Given the description of an element on the screen output the (x, y) to click on. 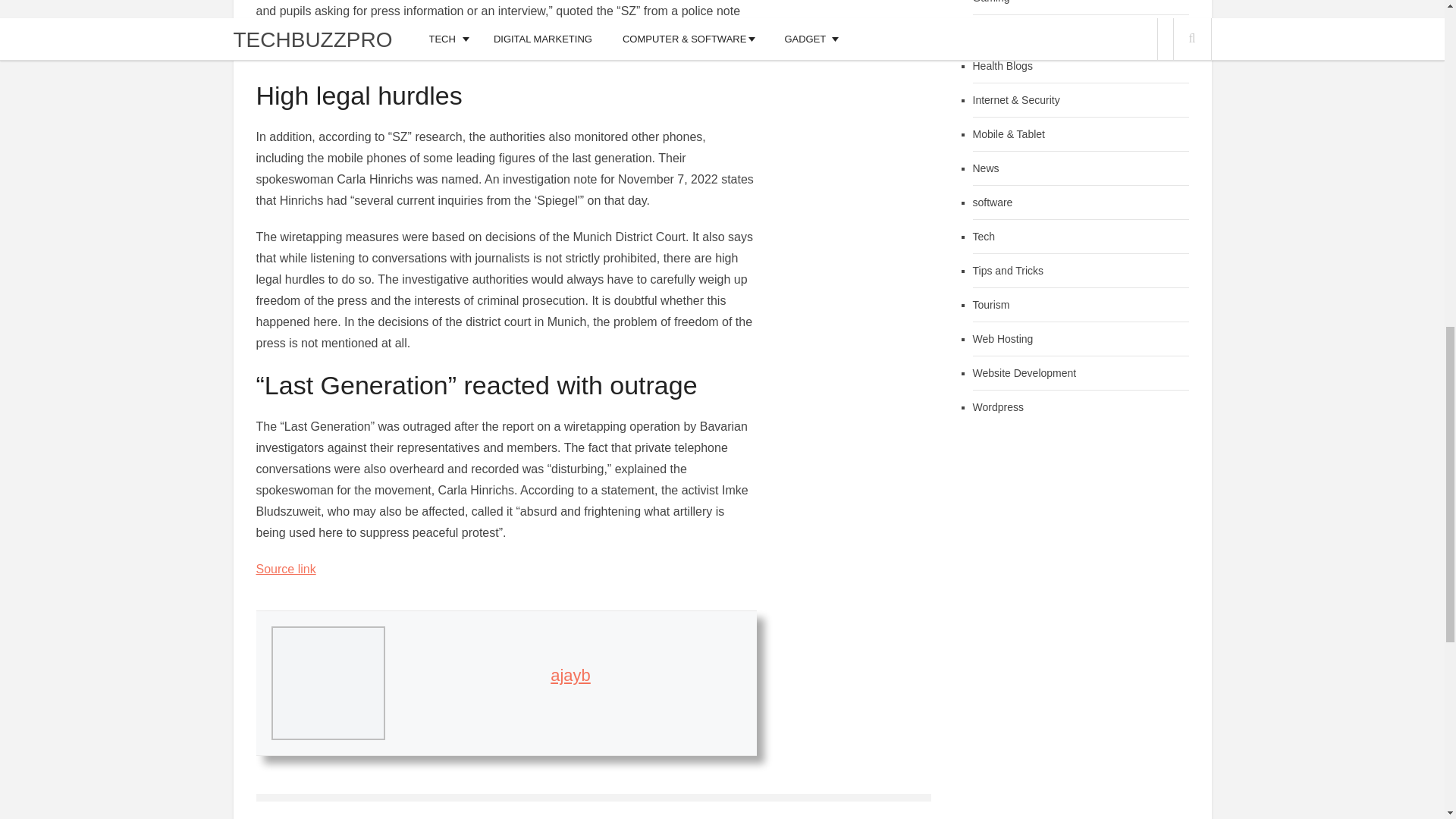
ajayb (570, 674)
Source link (285, 568)
